Given the description of an element on the screen output the (x, y) to click on. 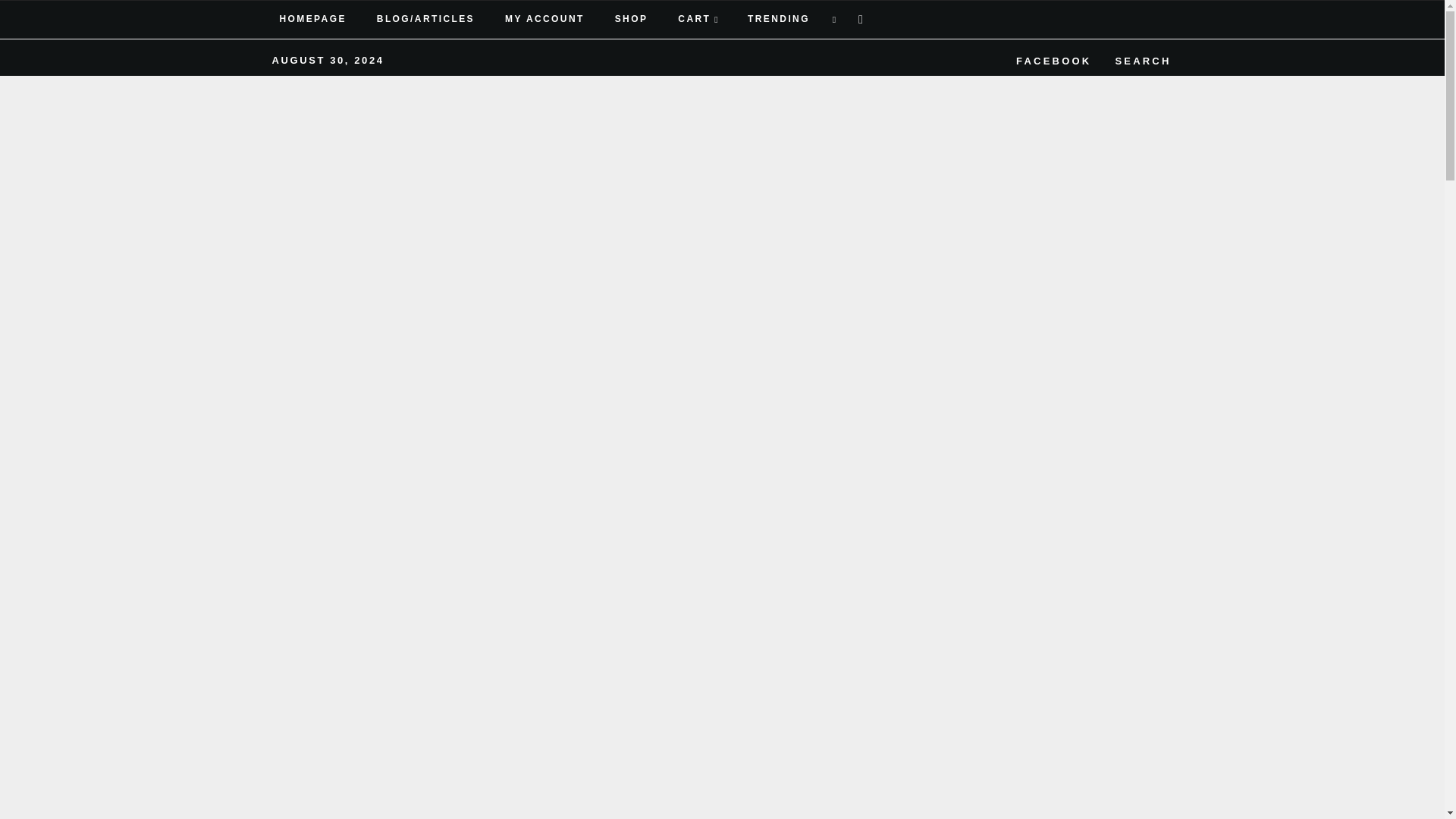
CART (698, 19)
FACEBOOK (1050, 57)
HOMEPAGE (312, 19)
SHOP (631, 19)
SEARCH (1139, 57)
MY ACCOUNT (544, 19)
TRENDING (776, 19)
